Given the description of an element on the screen output the (x, y) to click on. 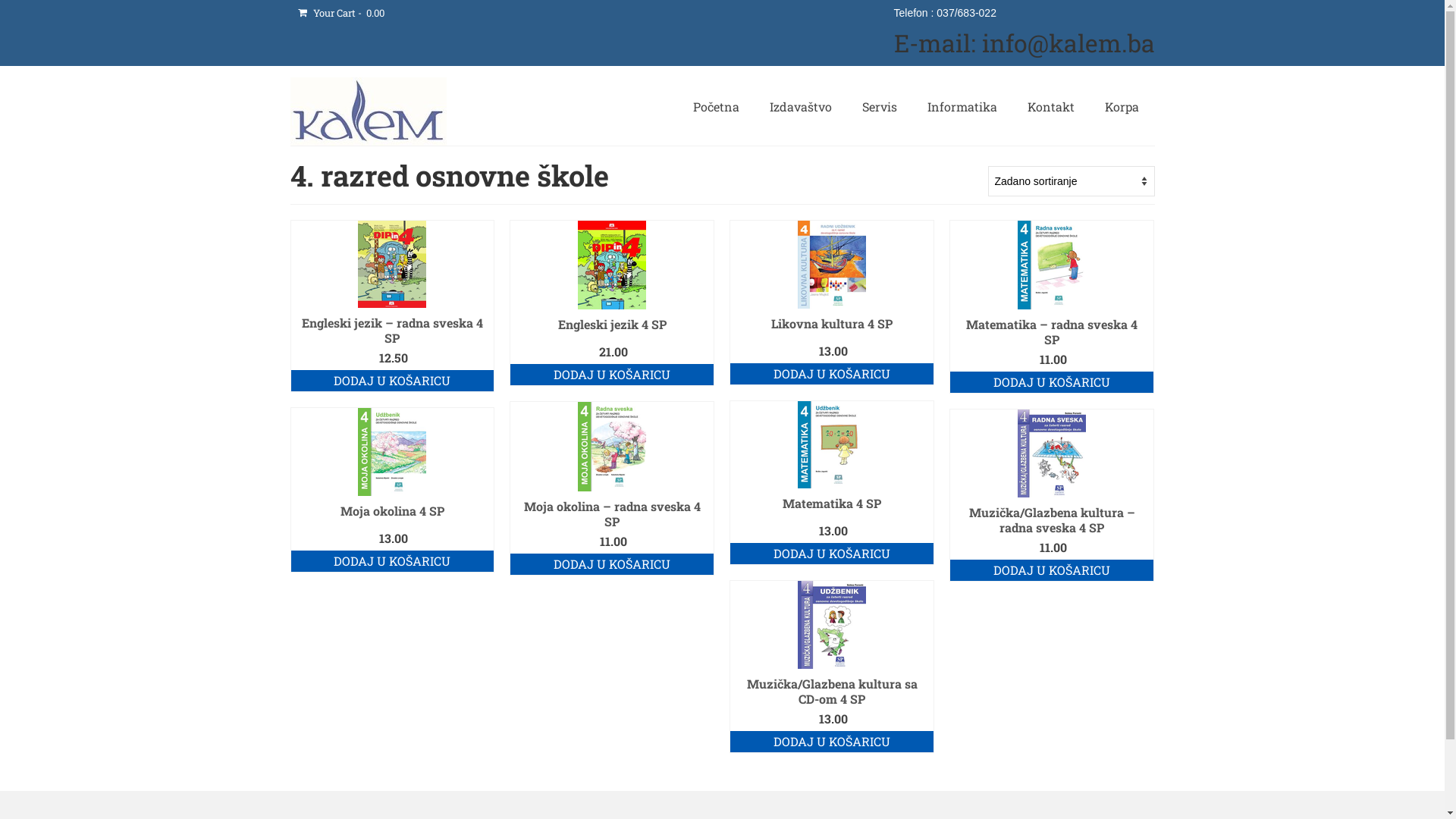
Likovna kultura 4 SP Element type: text (831, 323)
Moja okolina 4 SP Element type: text (392, 510)
Servis Element type: text (879, 106)
Korpa Element type: text (1121, 106)
Your Cart -  0.00 Element type: text (340, 12)
Kontakt Element type: text (1050, 106)
Matematika 4 SP Element type: text (831, 503)
Informatika Element type: text (962, 106)
Engleski jezik 4 SP Element type: text (611, 324)
